Given the description of an element on the screen output the (x, y) to click on. 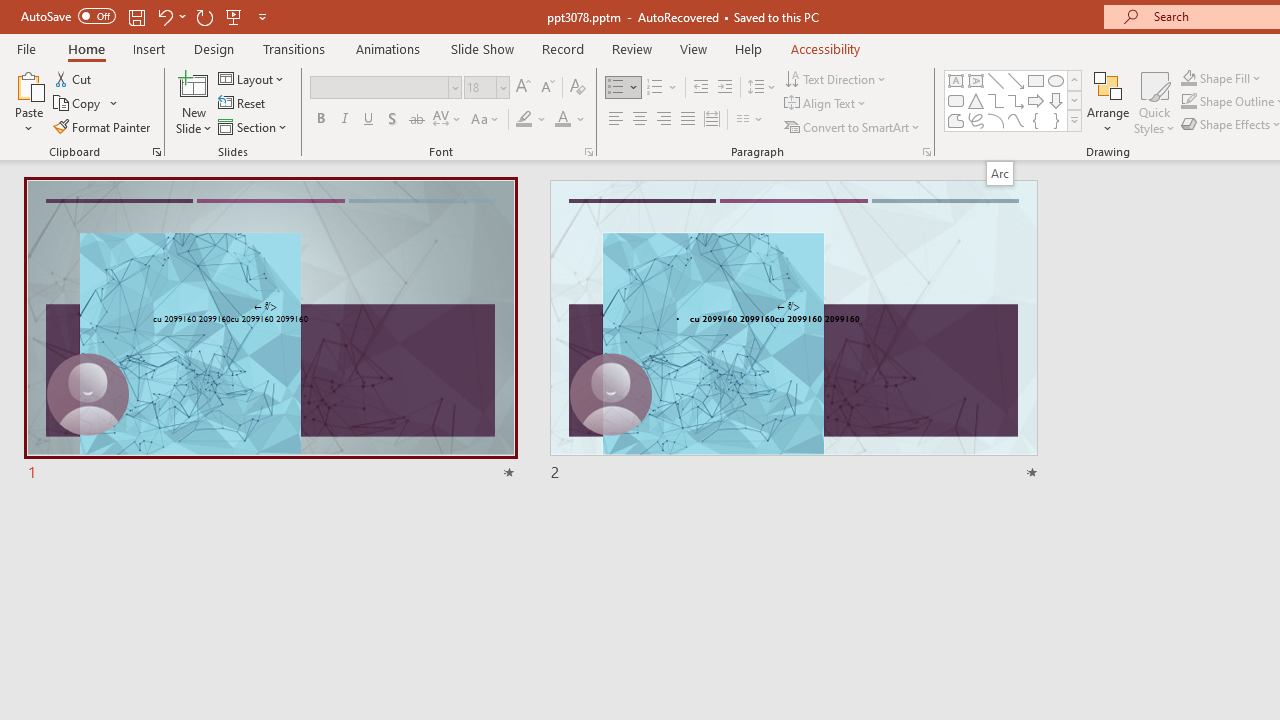
Clear Formatting (577, 87)
Decrease Font Size (547, 87)
Right Brace (1055, 120)
Line (995, 80)
Strikethrough (416, 119)
